Given the description of an element on the screen output the (x, y) to click on. 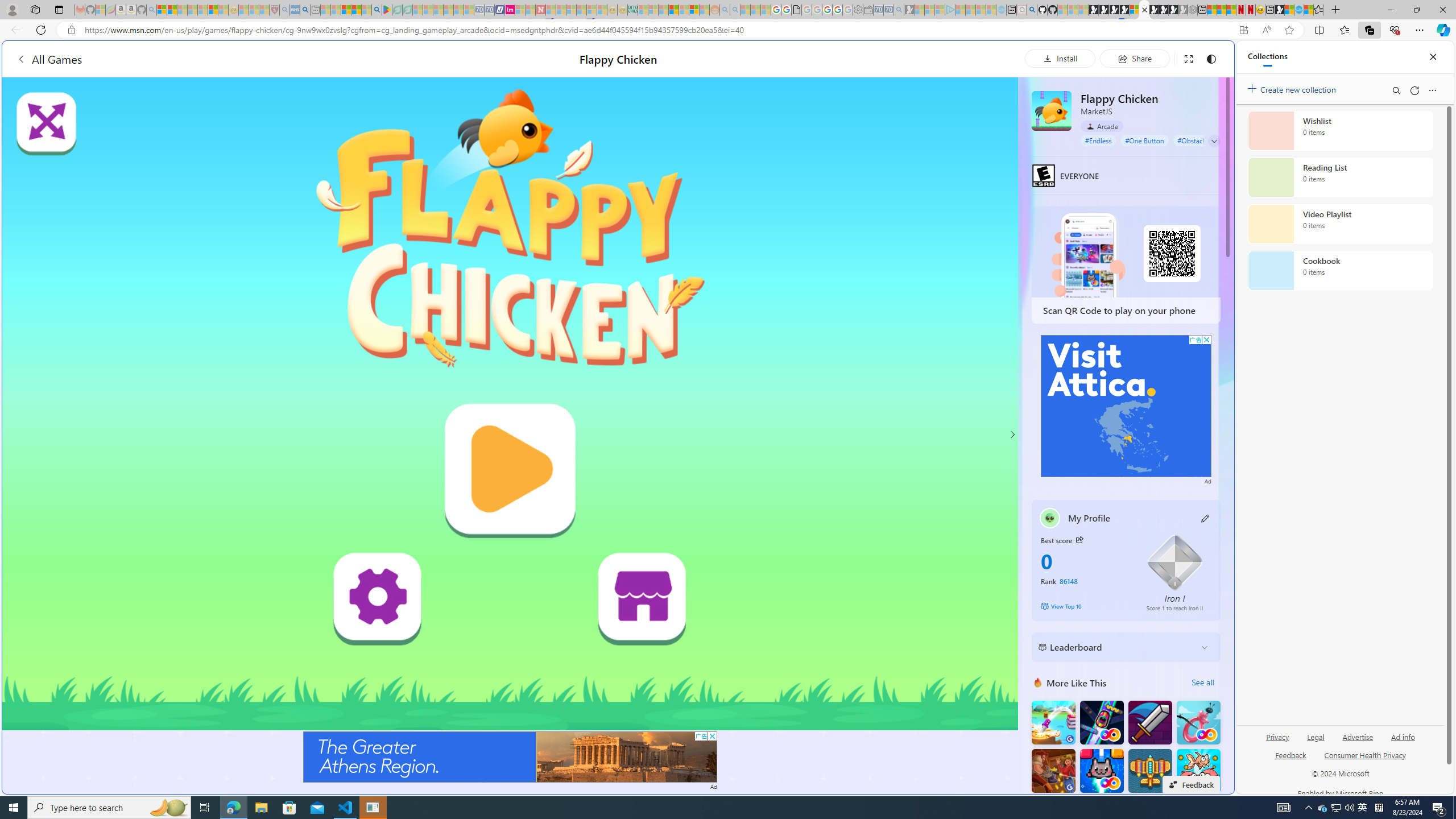
Wallet - Sleeping (867, 9)
Frequently visited (965, 151)
Flappy Chicken (1051, 110)
Video Playlist collection, 0 items (1339, 223)
EVERYONE (1043, 175)
All Games (216, 58)
